Given the description of an element on the screen output the (x, y) to click on. 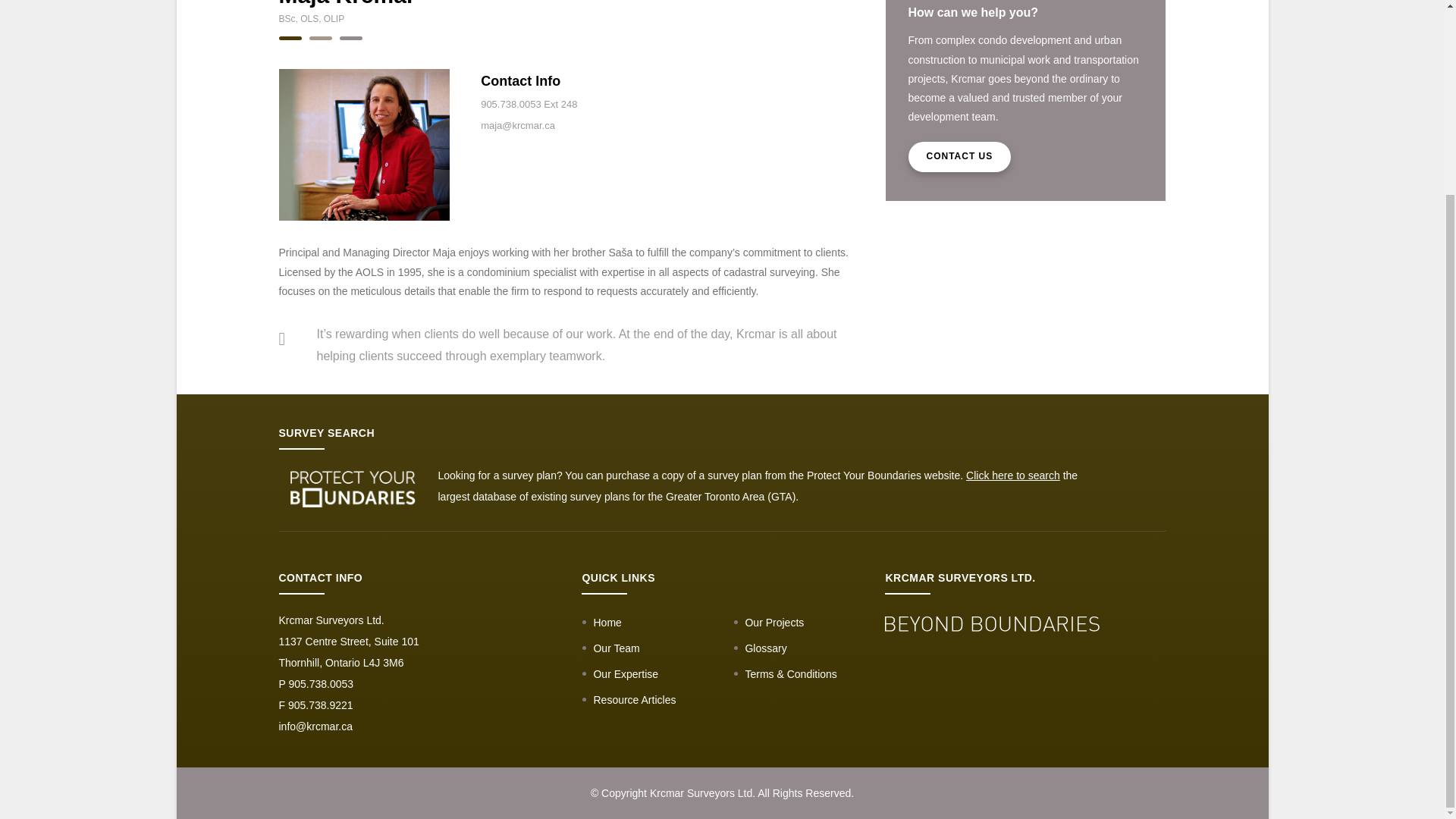
Our Expertise (619, 674)
Protect Your Boundaries (863, 474)
Our Projects (768, 622)
Glossary (759, 648)
Resource Articles (627, 699)
Home (600, 622)
Our Team (609, 648)
CONTACT US (959, 156)
Click here to search (1012, 474)
